Given the description of an element on the screen output the (x, y) to click on. 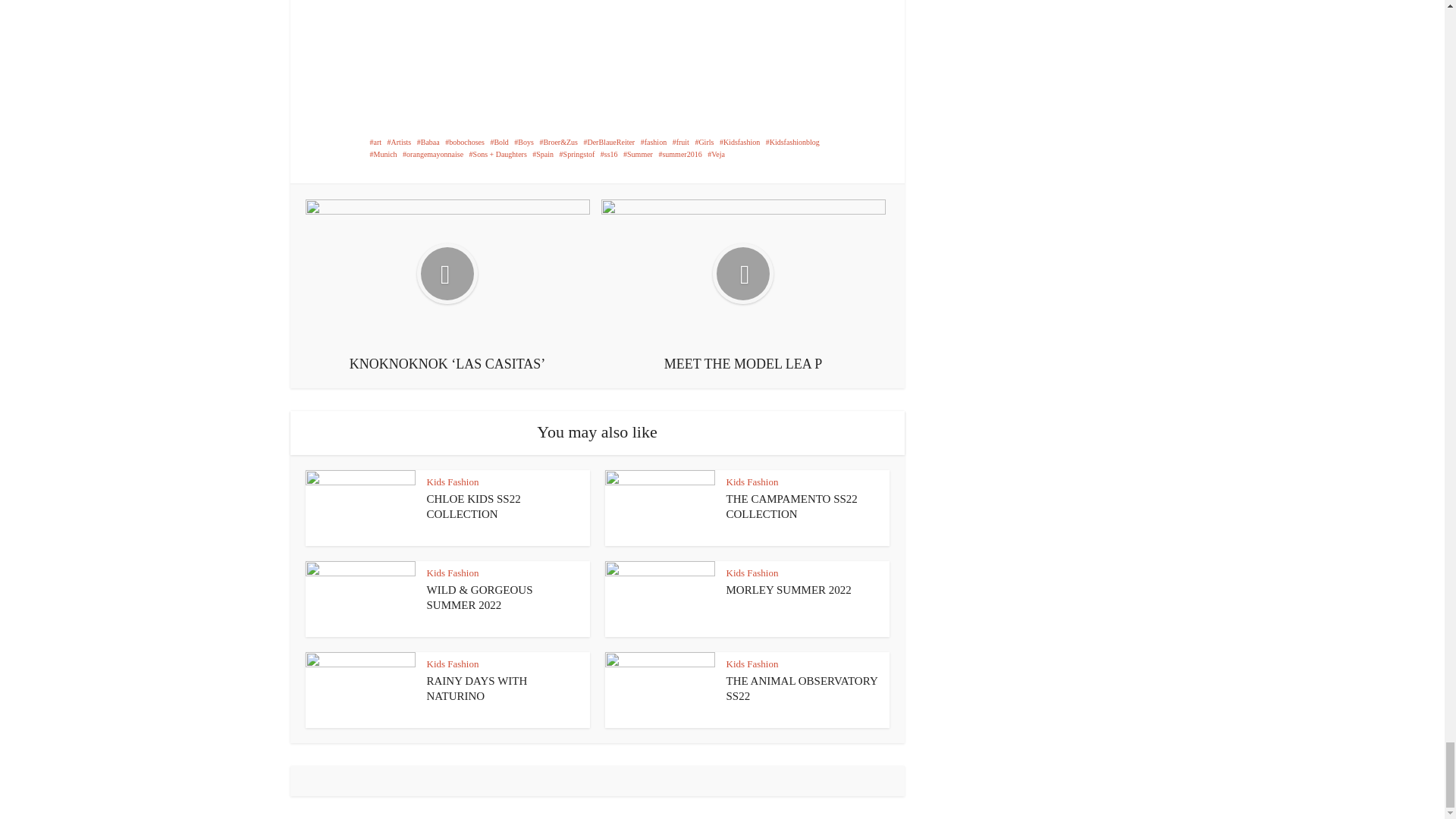
art (375, 142)
THE ANIMAL OBSERVATORY SS22 (801, 687)
RAINY DAYS WITH NATURINO (476, 687)
CHLOE KIDS SS22 COLLECTION (472, 506)
THE CAMPAMENTO SS22 COLLECTION (791, 506)
MORLEY SUMMER 2022 (788, 589)
